Given the description of an element on the screen output the (x, y) to click on. 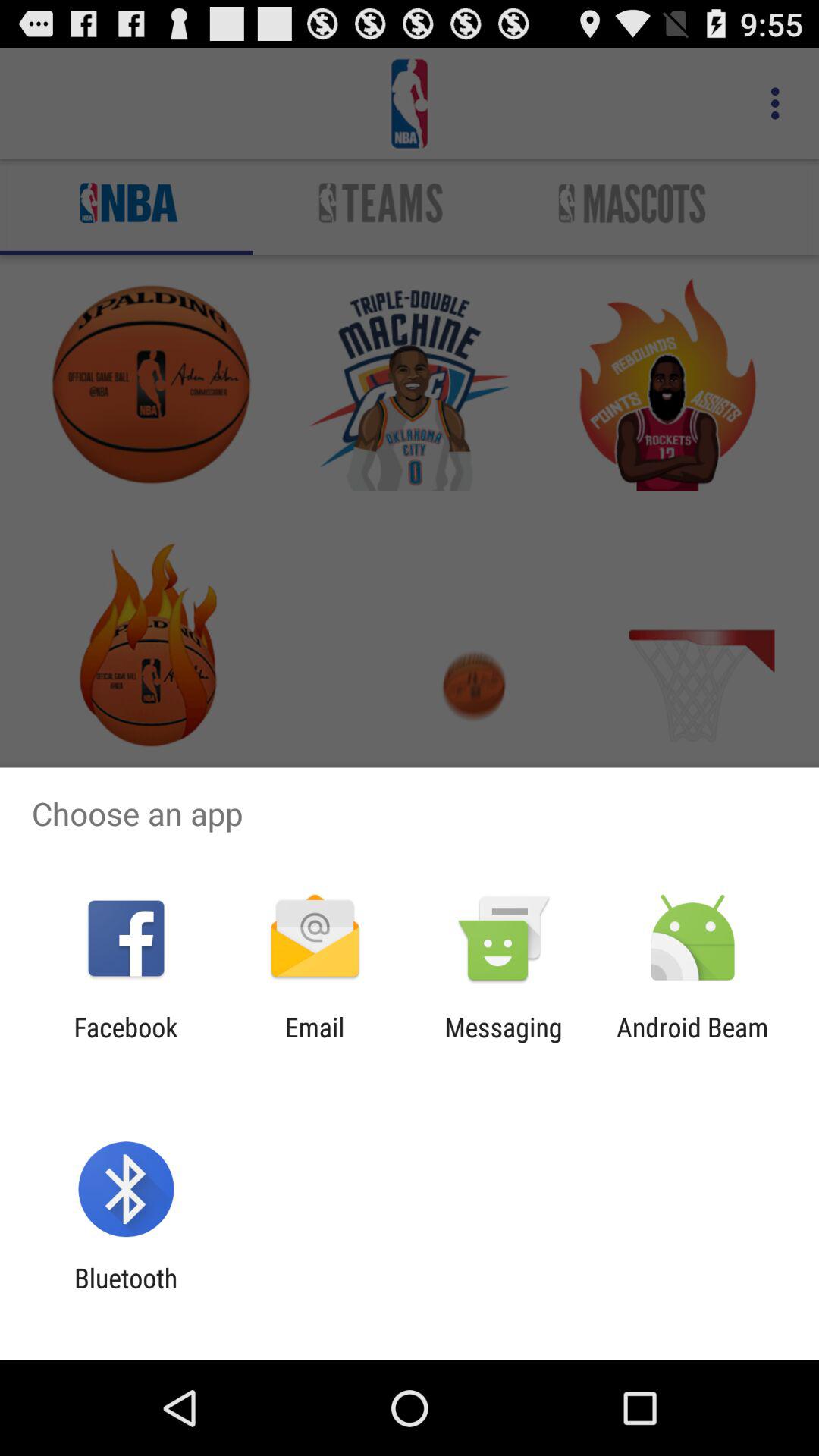
jump until the facebook (125, 1042)
